Given the description of an element on the screen output the (x, y) to click on. 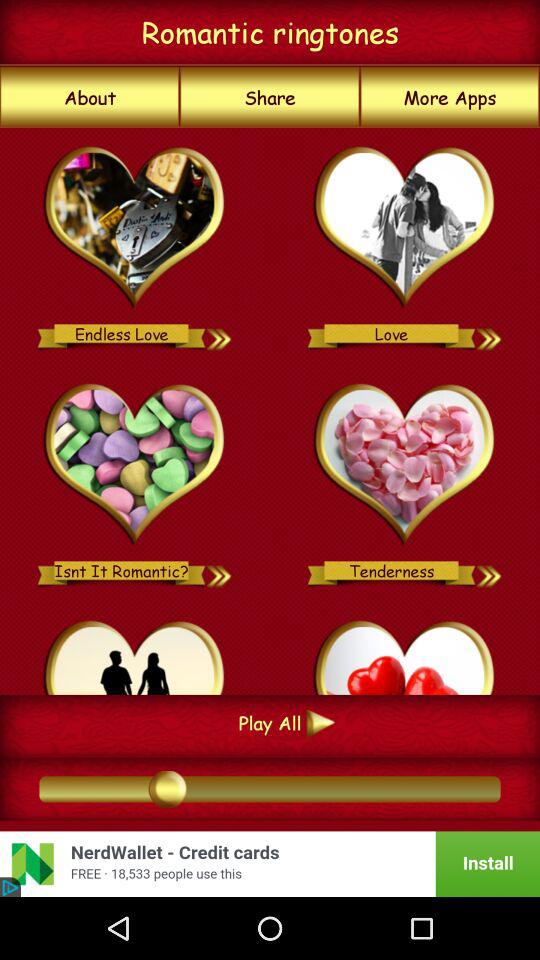
play option (134, 654)
